Given the description of an element on the screen output the (x, y) to click on. 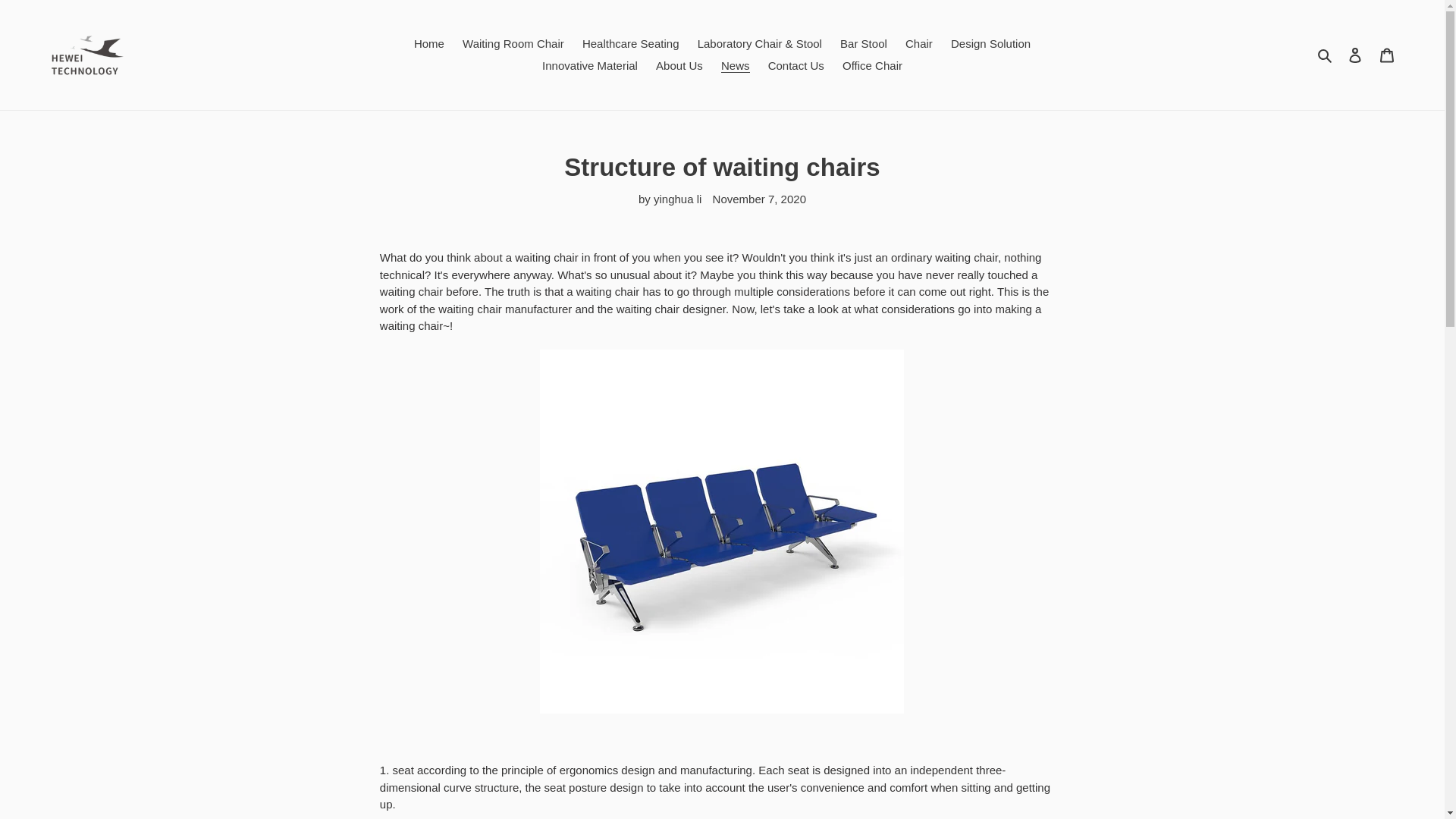
Office Chair (872, 65)
Search (1326, 54)
News (735, 65)
Healthcare Seating (631, 44)
Bar Stool (863, 44)
Waiting Room Chair (513, 44)
About Us (678, 65)
Log in (1355, 54)
Design Solution (990, 44)
Contact Us (795, 65)
Chair (919, 44)
Innovative Material (589, 65)
Home (428, 44)
Cart (1387, 54)
